Given the description of an element on the screen output the (x, y) to click on. 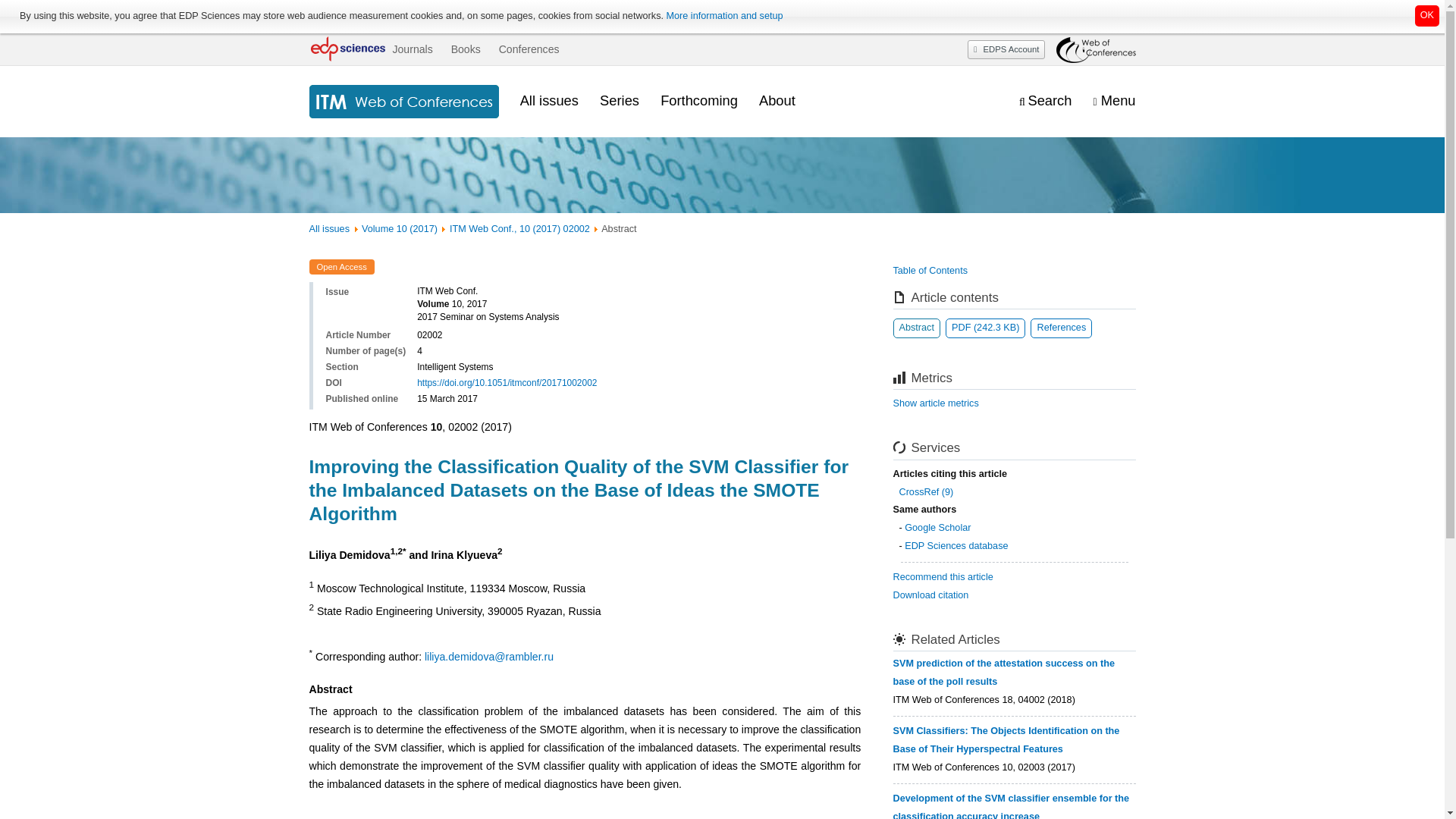
More information and setup (724, 15)
Conferences (529, 49)
Display the search engine (1045, 101)
Click to close this notification (1427, 15)
Abstract (916, 328)
Journal homepage (403, 101)
Journals (411, 49)
Books (465, 49)
OK (1427, 15)
